Given the description of an element on the screen output the (x, y) to click on. 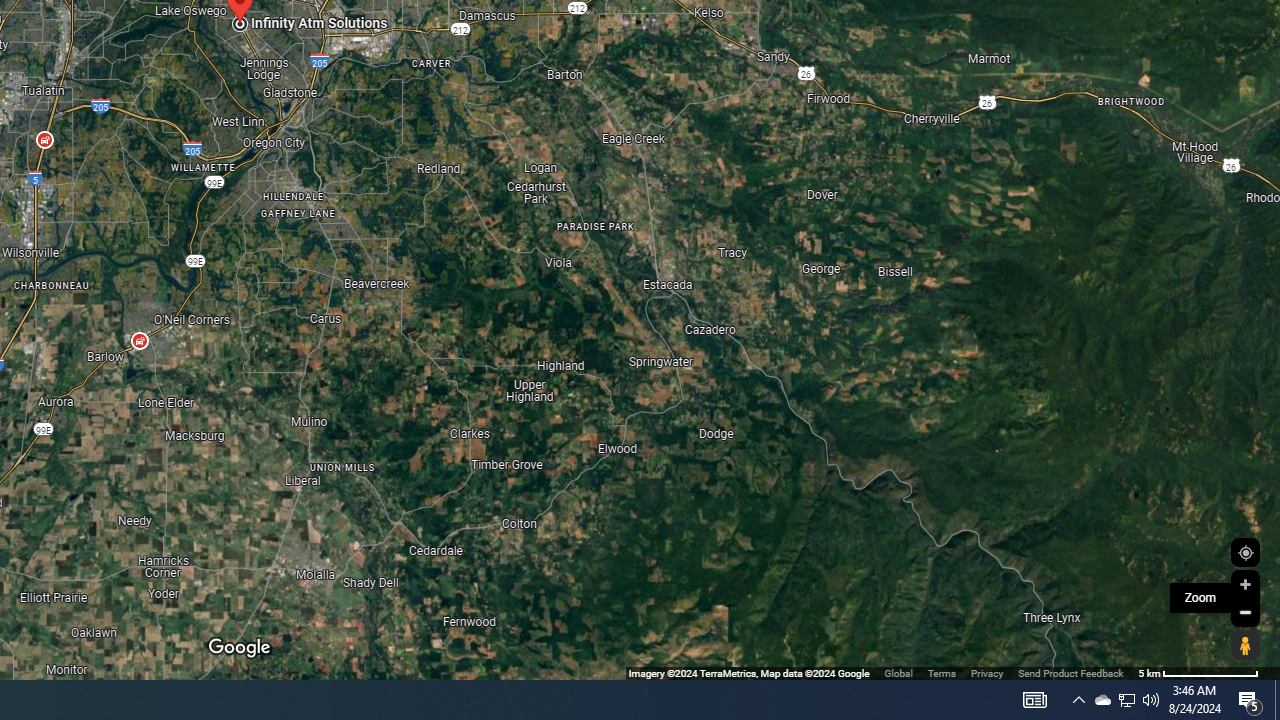
500 m (1198, 672)
Zoom (1199, 597)
Show Street View coverage (1245, 645)
Send Product Feedback (1070, 672)
Show Your Location (1245, 552)
Zoom out (1245, 612)
Global (898, 672)
Zoom in (1245, 584)
